Given the description of an element on the screen output the (x, y) to click on. 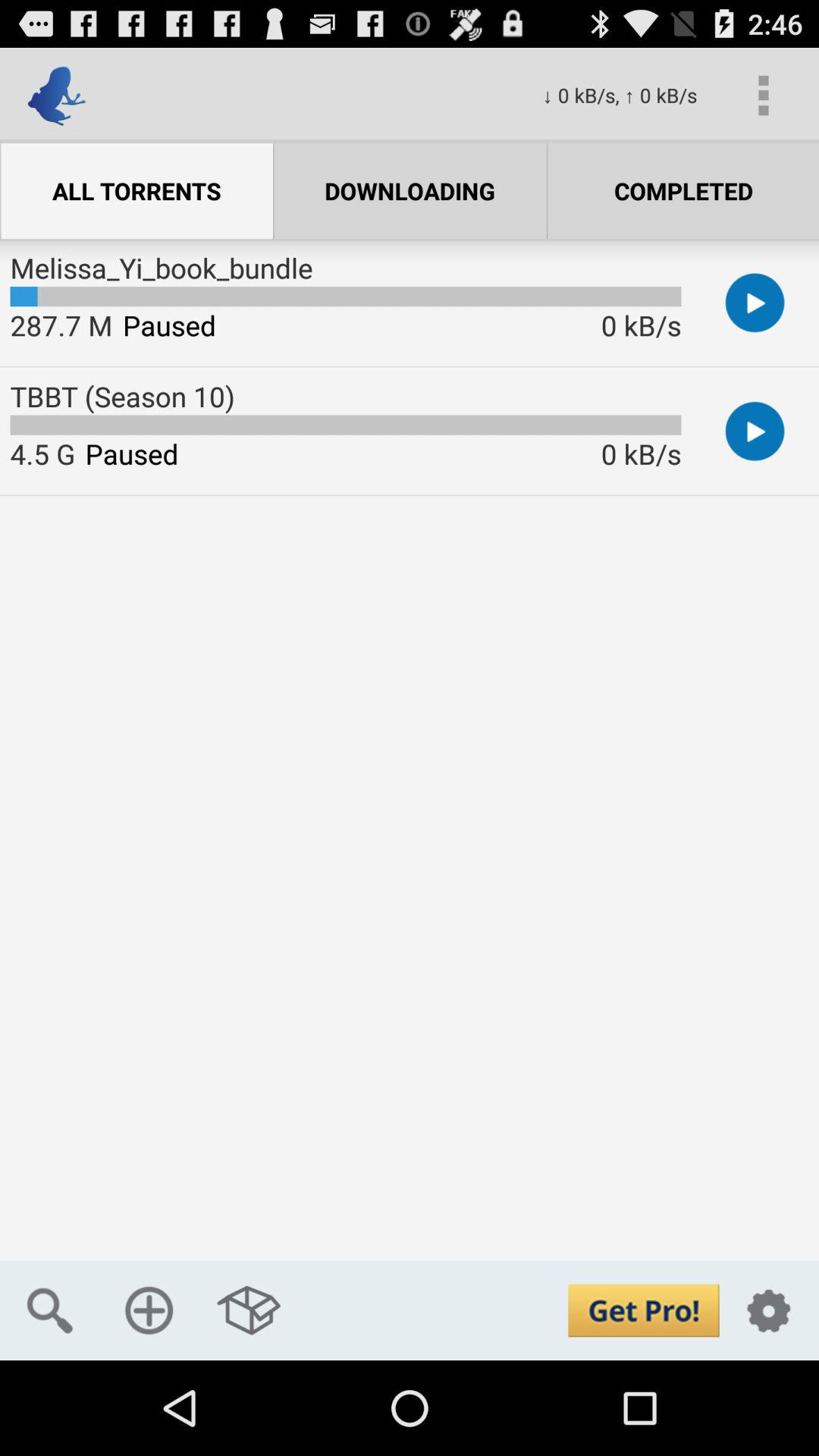
launch the item next to paused item (42, 453)
